Given the description of an element on the screen output the (x, y) to click on. 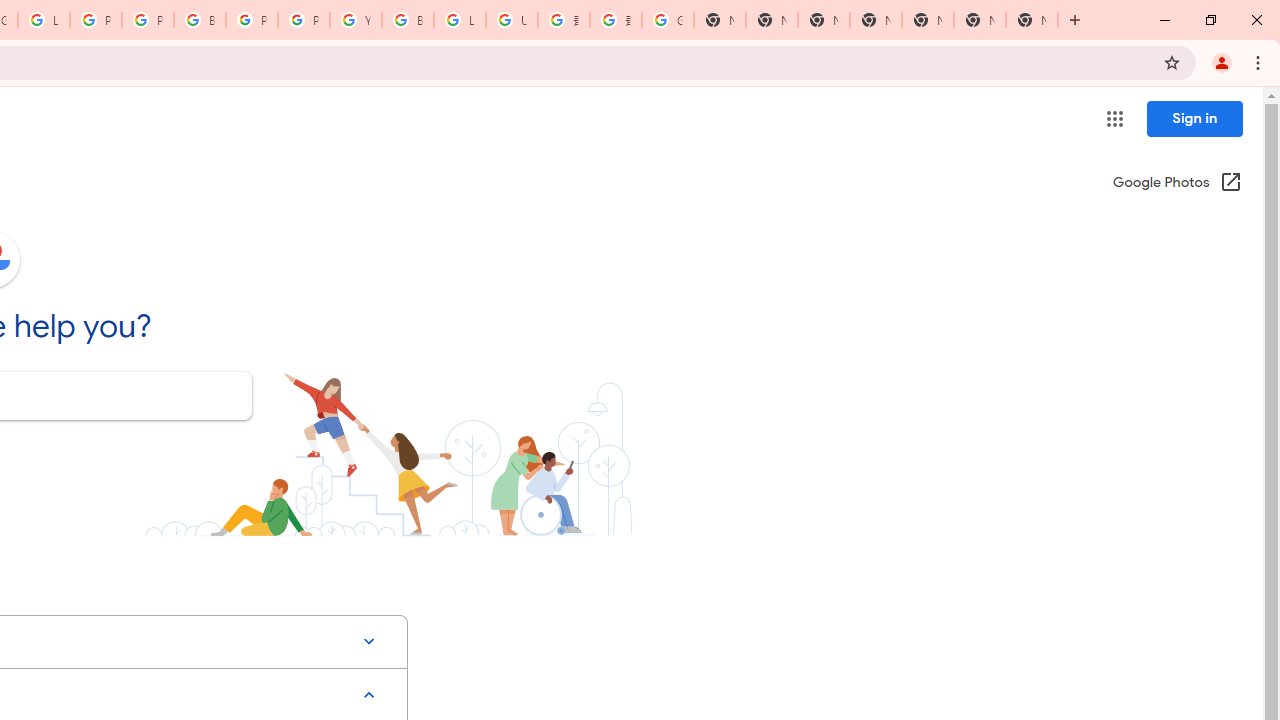
New Tab (875, 20)
Privacy Help Center - Policies Help (95, 20)
Privacy Help Center - Policies Help (147, 20)
